Given the description of an element on the screen output the (x, y) to click on. 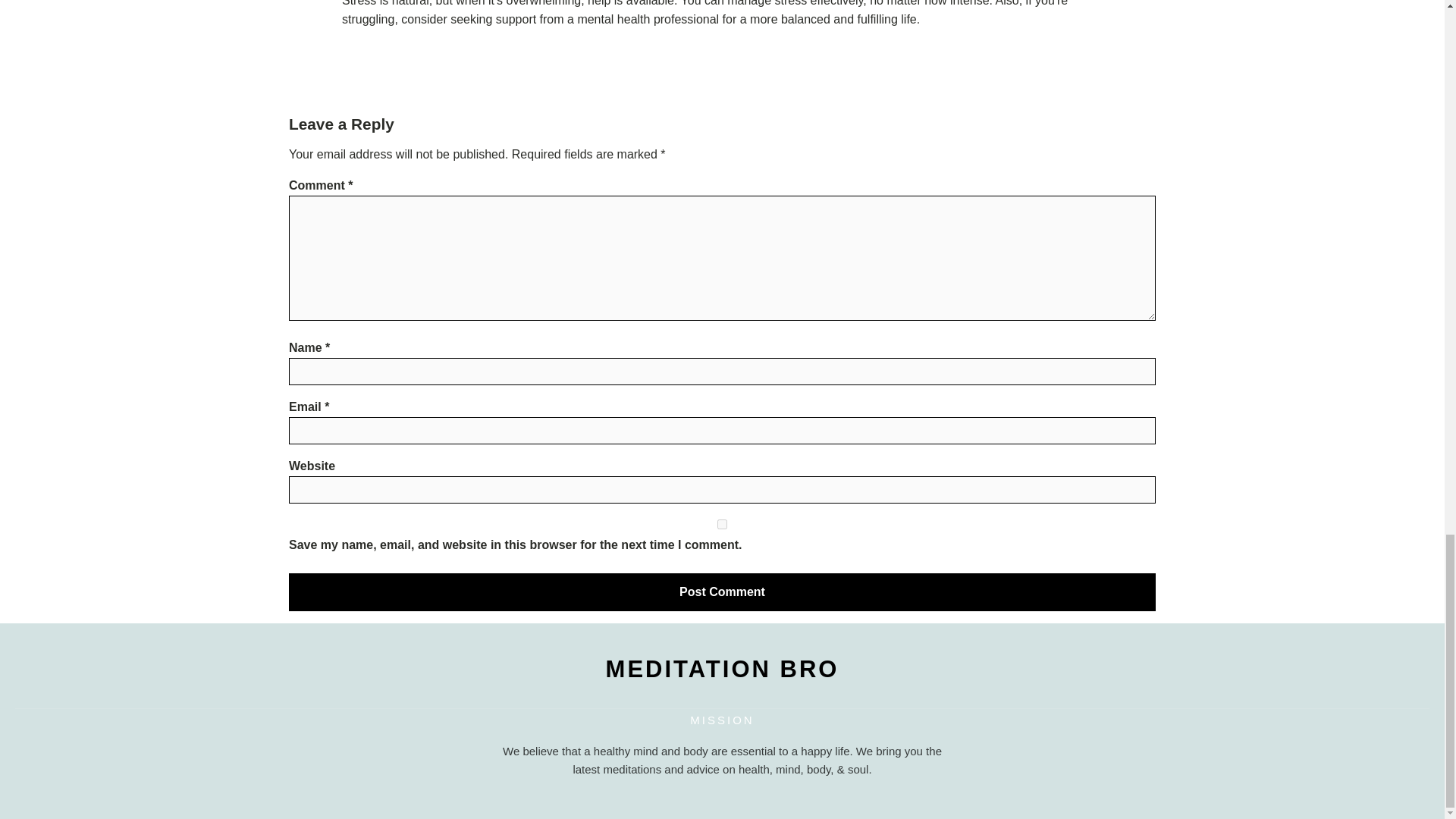
Post Comment (722, 591)
MEDITATION BRO (721, 669)
yes (722, 524)
Post Comment (722, 591)
